Given the description of an element on the screen output the (x, y) to click on. 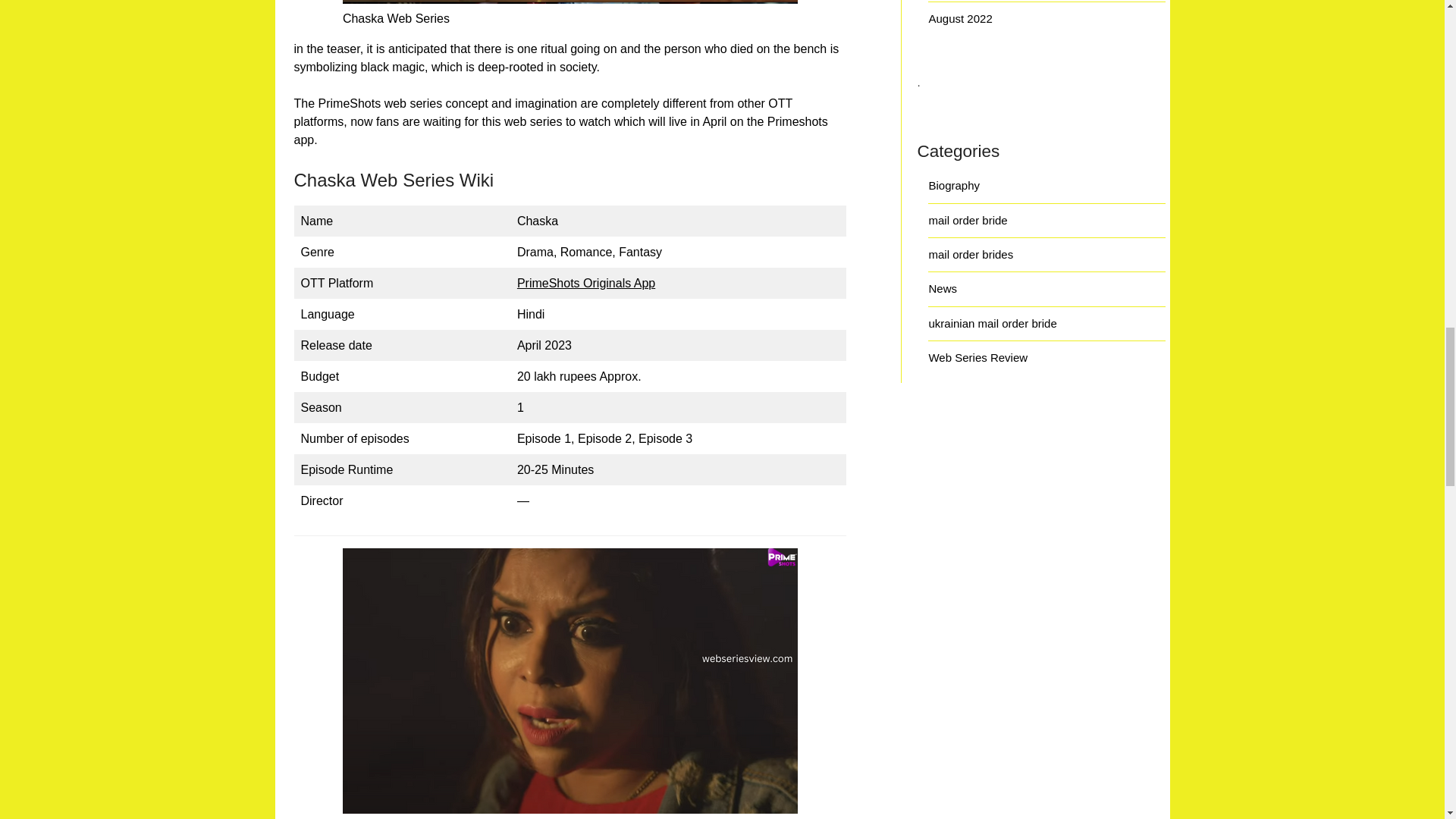
PrimeShots Originals App (585, 282)
